Given the description of an element on the screen output the (x, y) to click on. 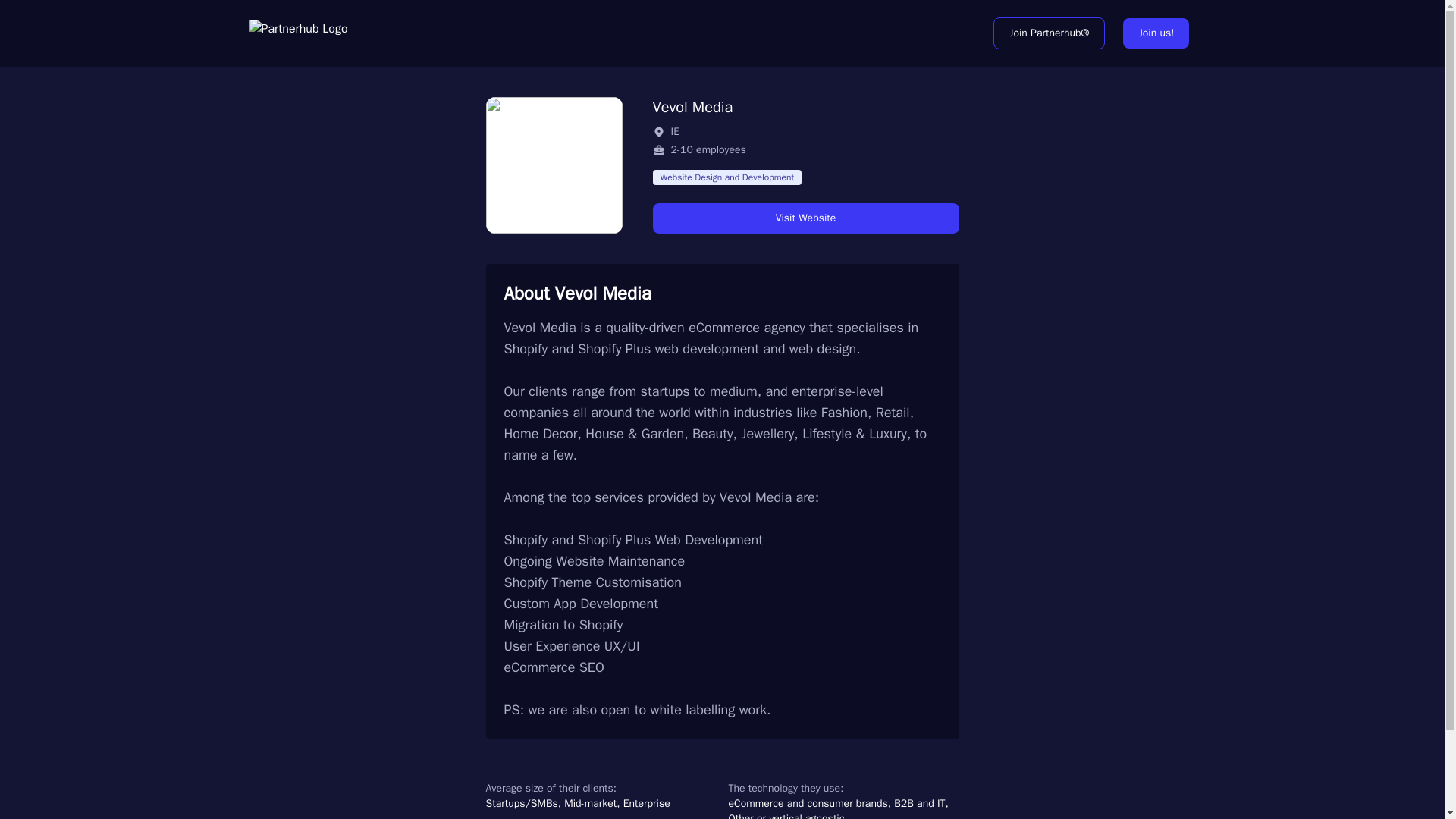
Join us! (1155, 33)
Visit Website (805, 218)
